Given the description of an element on the screen output the (x, y) to click on. 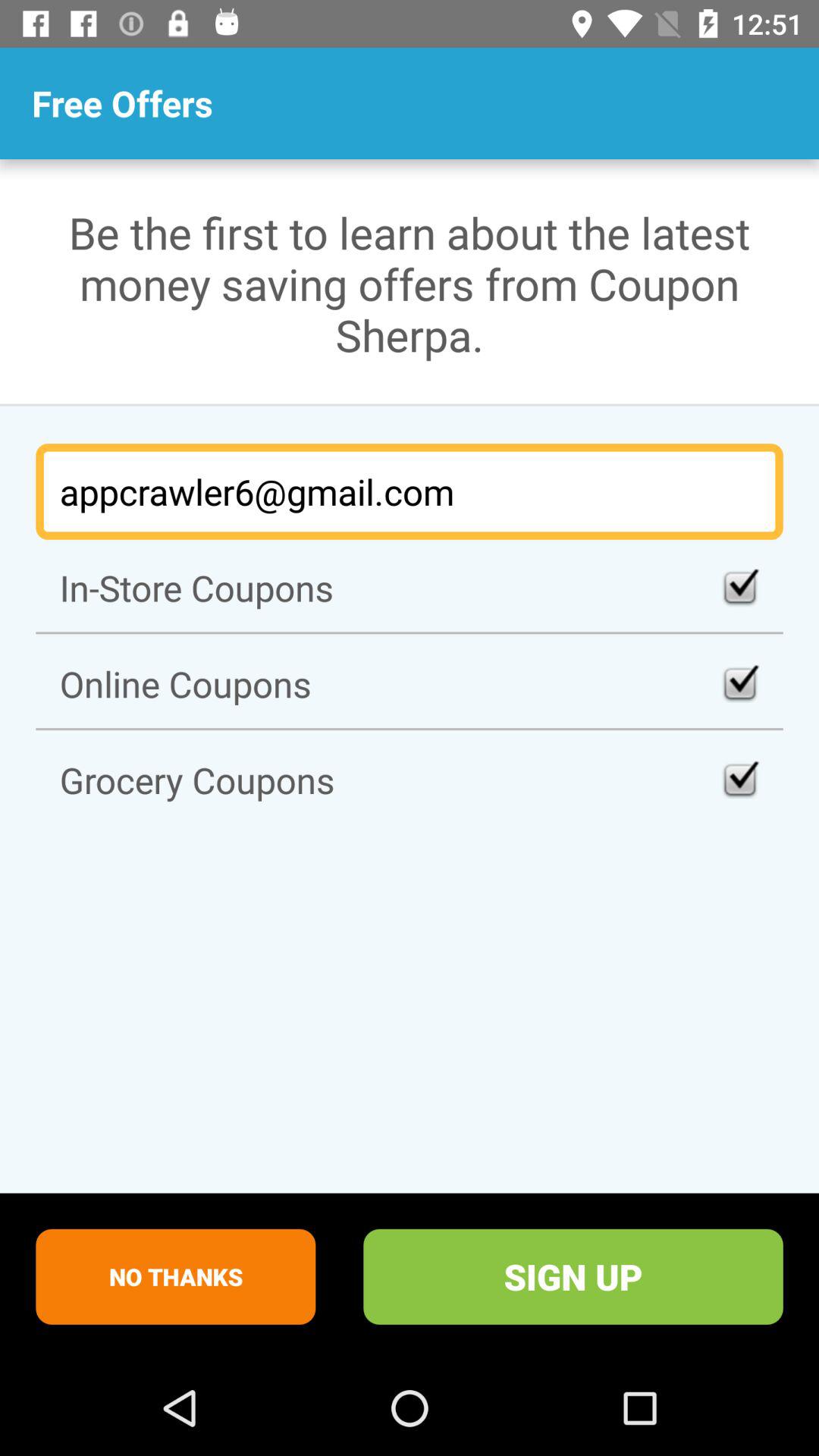
scroll until in-store coupons icon (409, 587)
